Given the description of an element on the screen output the (x, y) to click on. 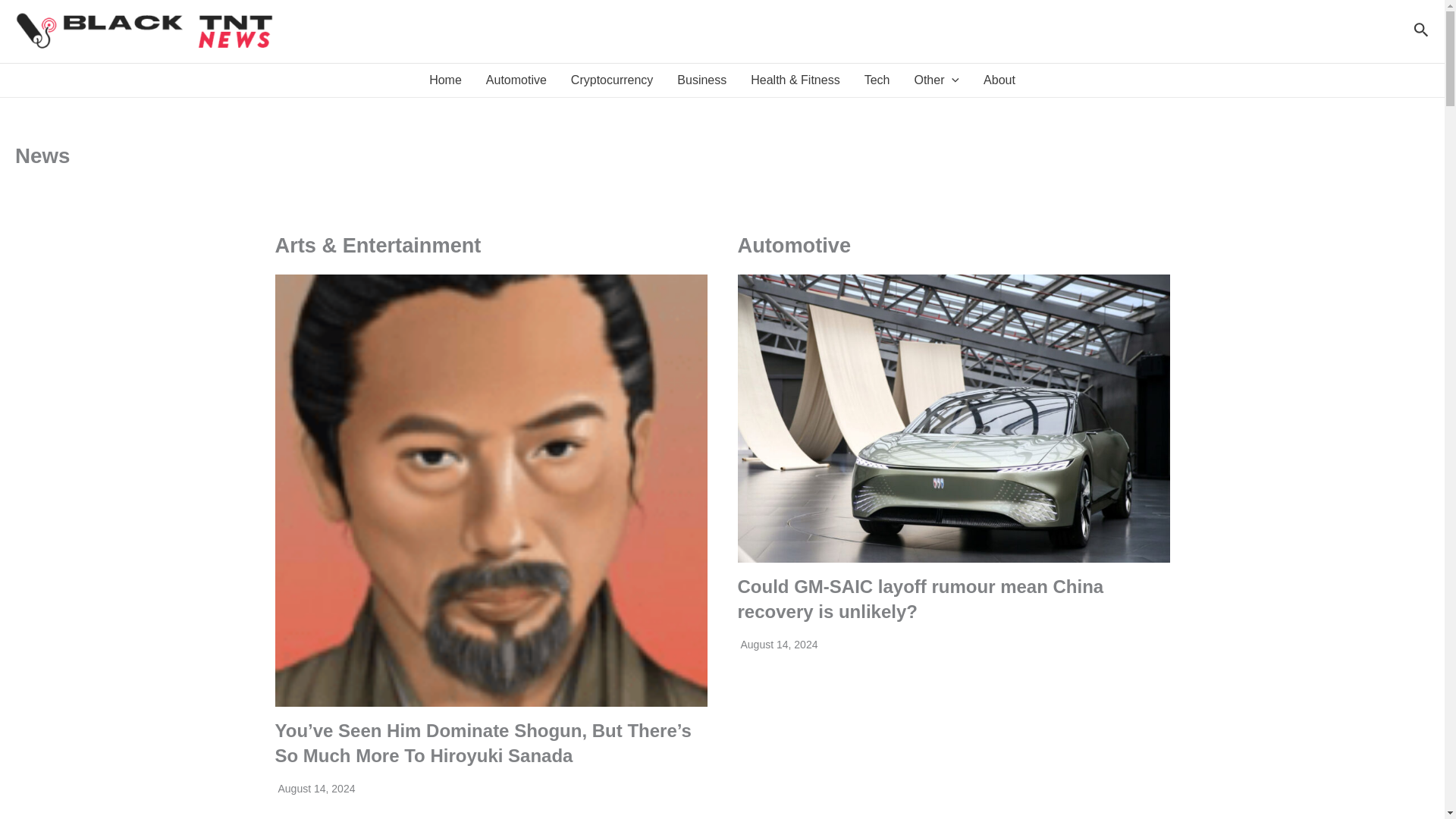
Automotive (516, 80)
Other (936, 80)
Tech (876, 80)
Home (445, 80)
About (999, 80)
Business (701, 80)
Cryptocurrency (612, 80)
